Given the description of an element on the screen output the (x, y) to click on. 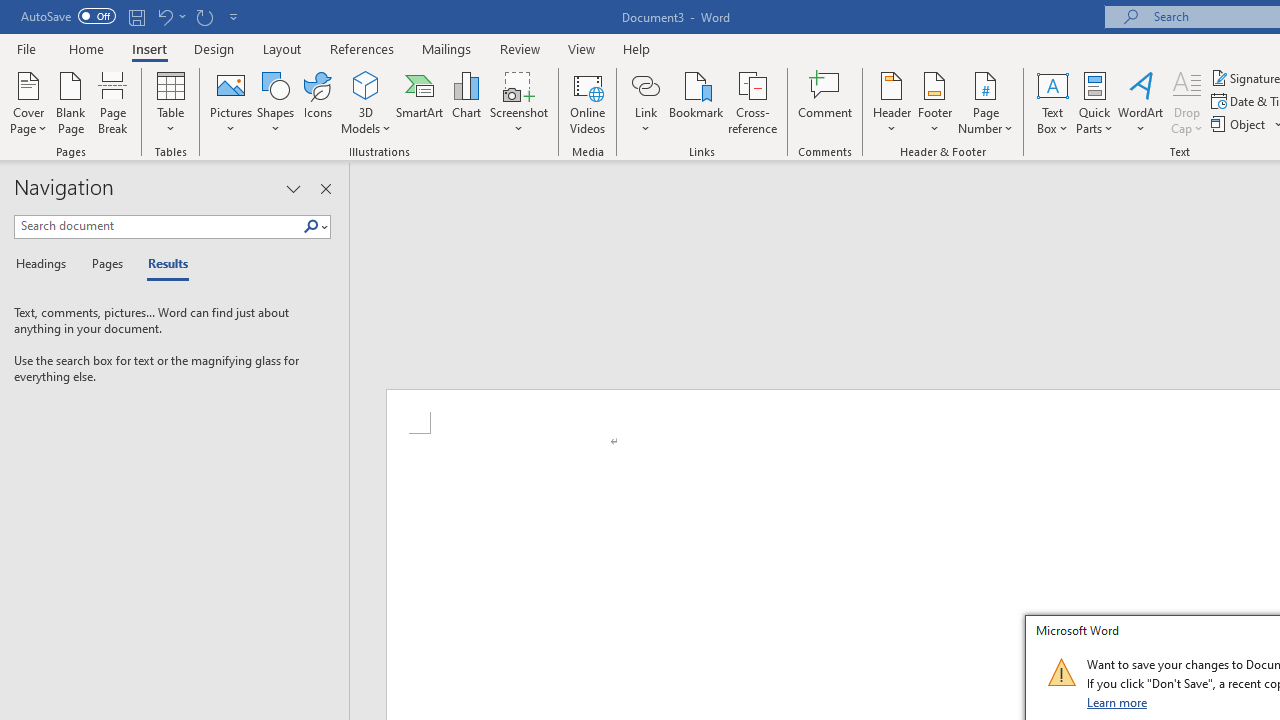
3D Models (366, 102)
Object... (1240, 124)
Screenshot (518, 102)
Repeat New Page (204, 15)
Table (170, 102)
Blank Page (70, 102)
Online Videos... (588, 102)
Page Number (986, 102)
Cross-reference... (752, 102)
Footer (934, 102)
Cover Page (28, 102)
